Given the description of an element on the screen output the (x, y) to click on. 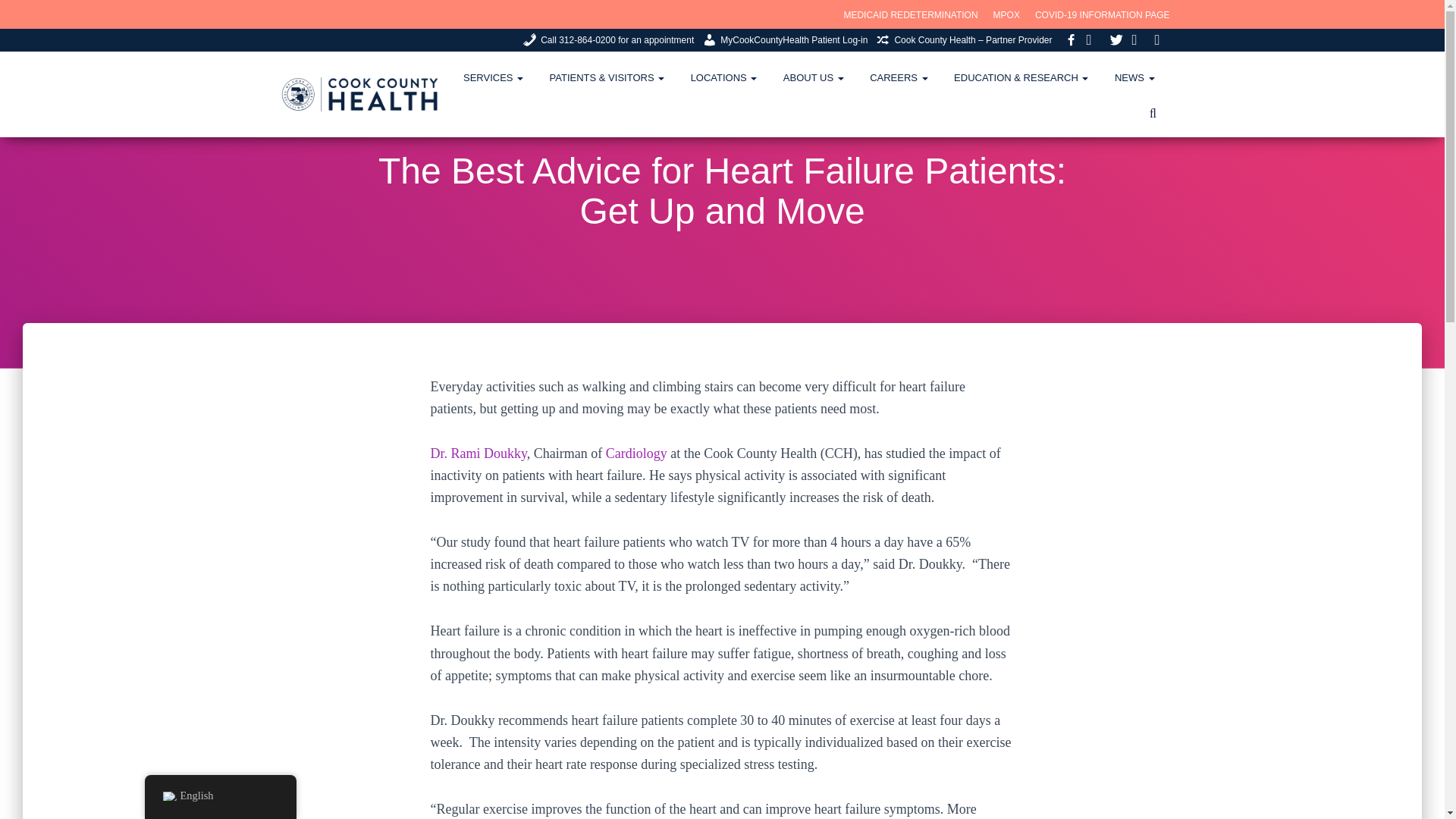
SERVICES (492, 77)
Facebook (1071, 40)
Instagram (1094, 41)
MEDICAID REDETERMINATION (910, 14)
YouTube (1162, 41)
Services (492, 77)
COVID-19 INFORMATION PAGE (1102, 14)
MPOX (1006, 14)
Cook County Health (360, 94)
Twitter (1116, 40)
